Given the description of an element on the screen output the (x, y) to click on. 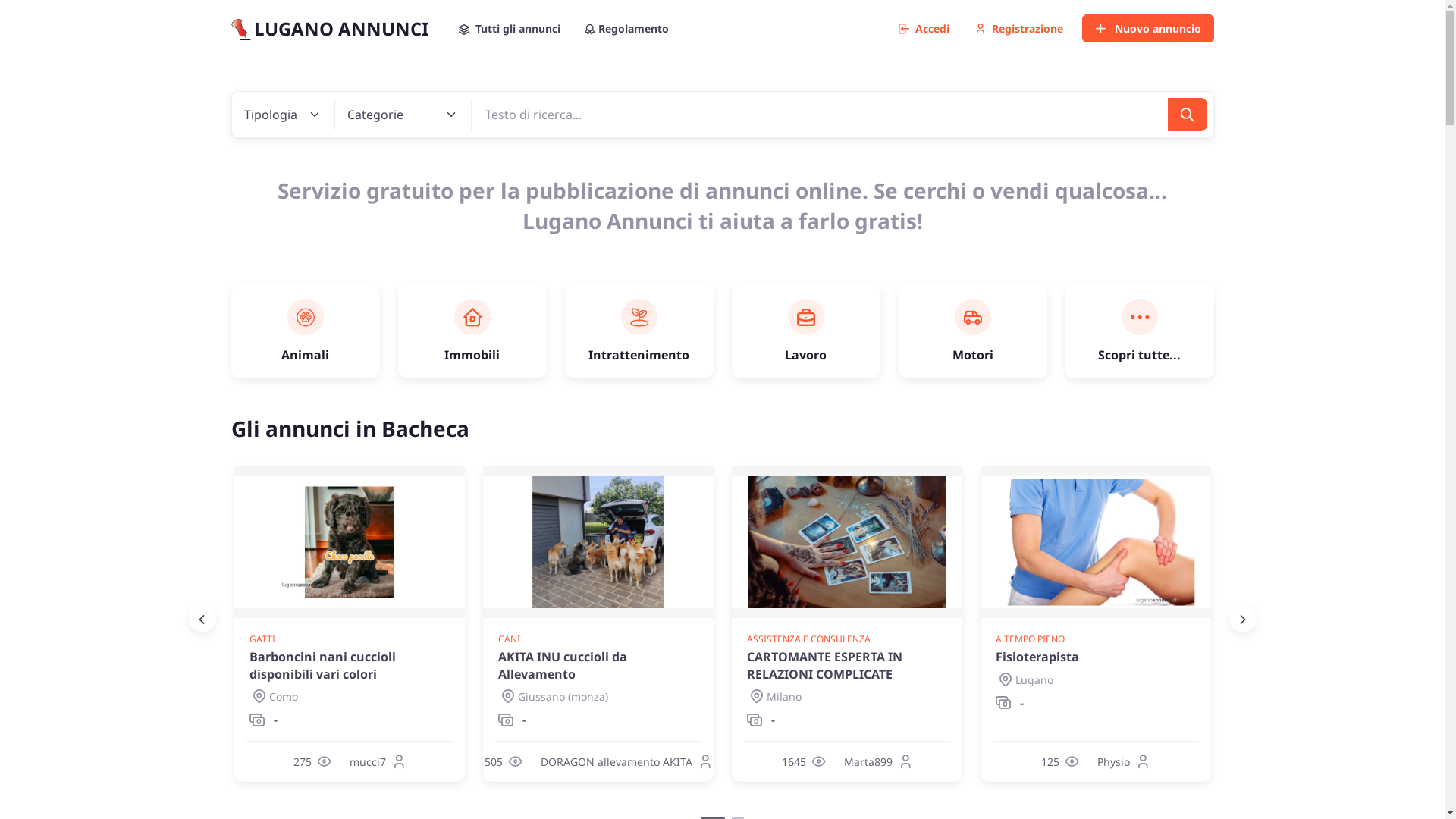
Regolamento Element type: text (625, 28)
Motori Element type: text (971, 330)
Lavoro Element type: text (805, 330)
Fisioterapista Element type: text (1094, 656)
Nuovo annuncio Element type: text (1147, 28)
Barboncini nani cuccioli disponibili vari colori Element type: text (348, 665)
Immobili Element type: text (471, 330)
Tutti gli annunci Element type: text (508, 28)
CARTOMANTE ESPERTA IN RELAZIONI COMPLICATE Element type: text (846, 665)
Scopri tutte... Element type: text (1138, 330)
LUGANO ANNUNCI Element type: text (328, 28)
Accedi Element type: text (923, 28)
Animali Element type: text (304, 330)
AKITA INU cuccioli da Allevamento Element type: text (597, 665)
Registrazione Element type: text (1018, 28)
Intrattenimento Element type: text (638, 330)
